Given the description of an element on the screen output the (x, y) to click on. 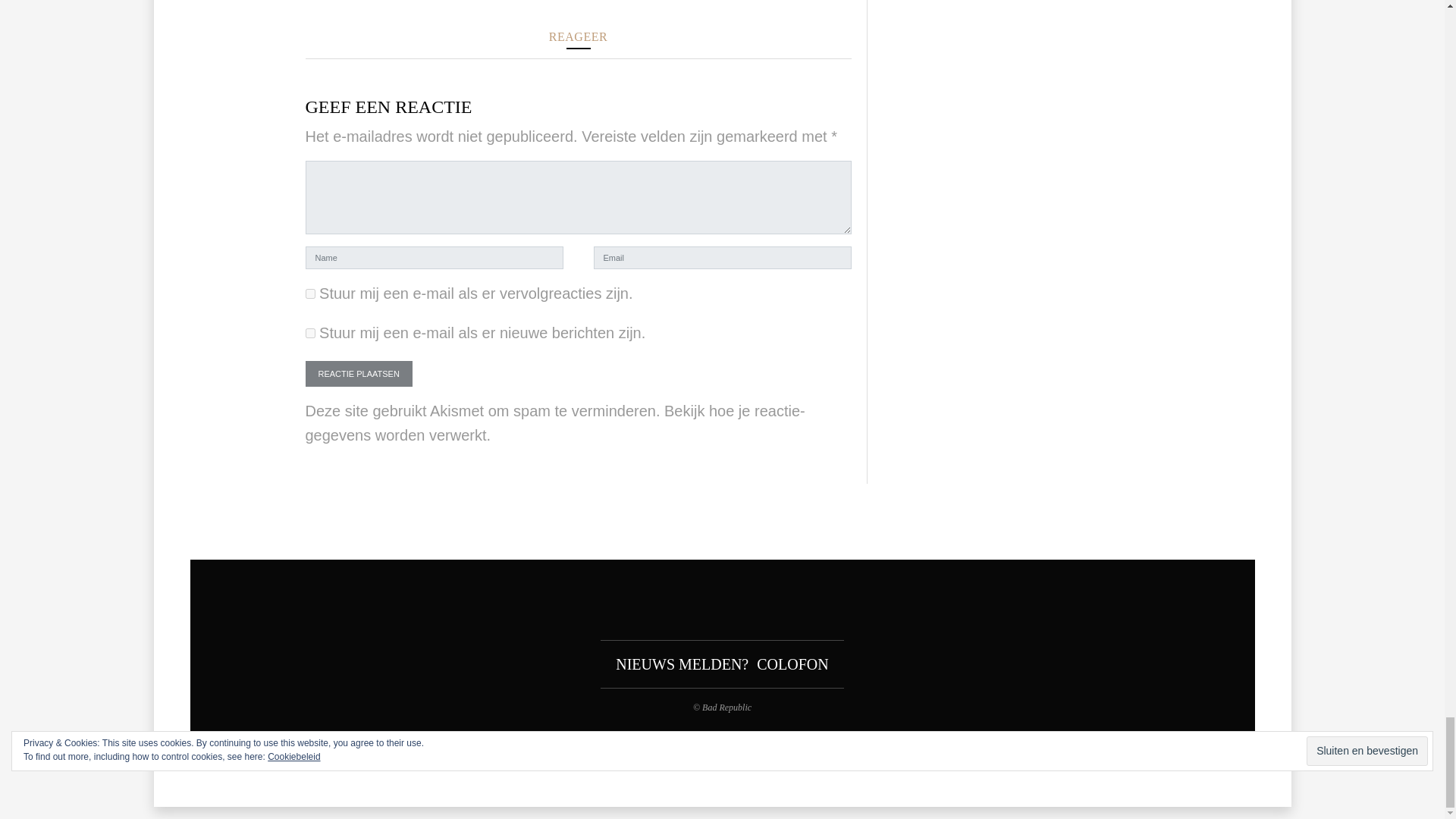
subscribe (309, 333)
subscribe (309, 293)
Reactie plaatsen (358, 374)
